Given the description of an element on the screen output the (x, y) to click on. 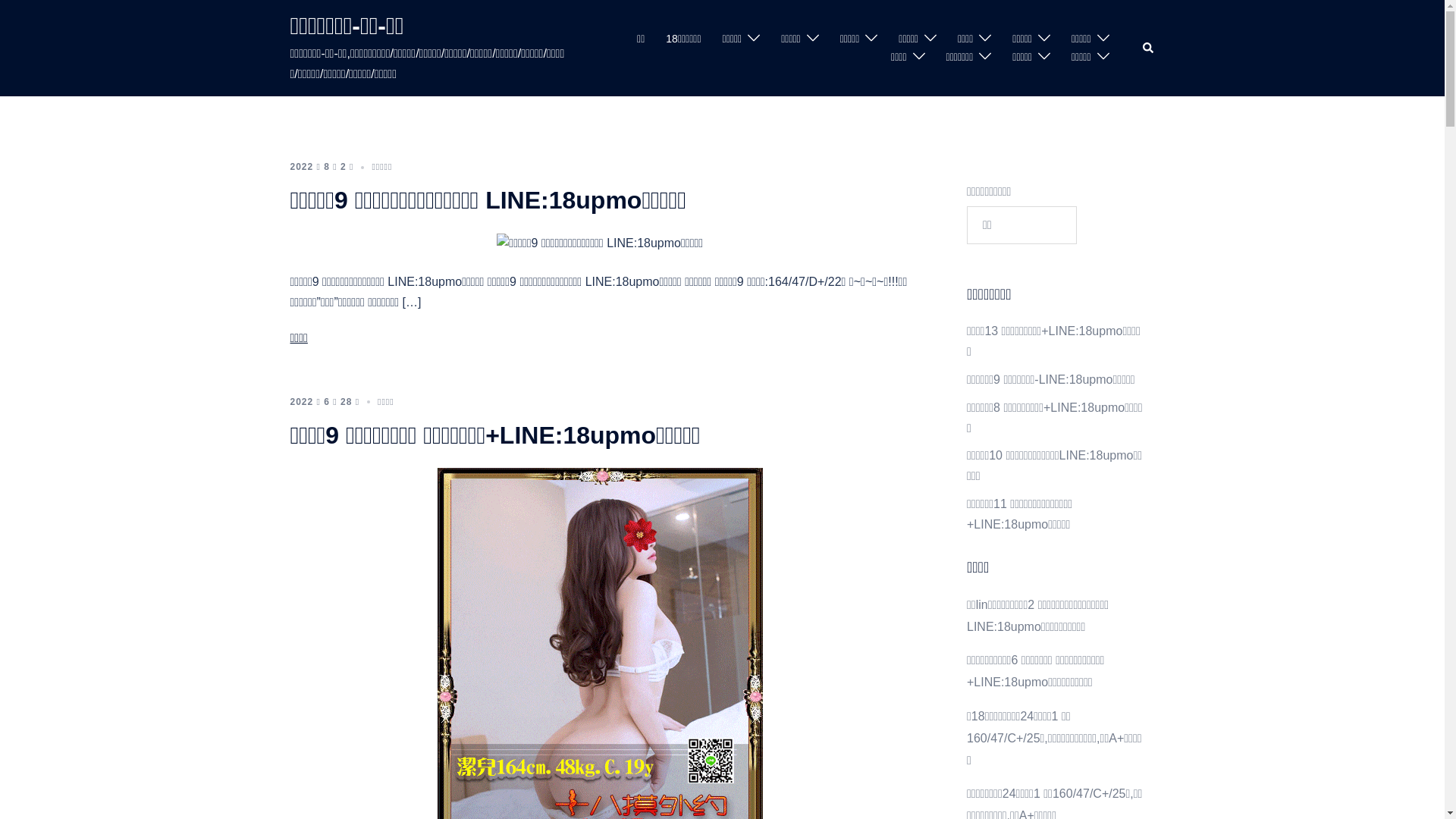
Search Element type: text (1148, 47)
